Given the description of an element on the screen output the (x, y) to click on. 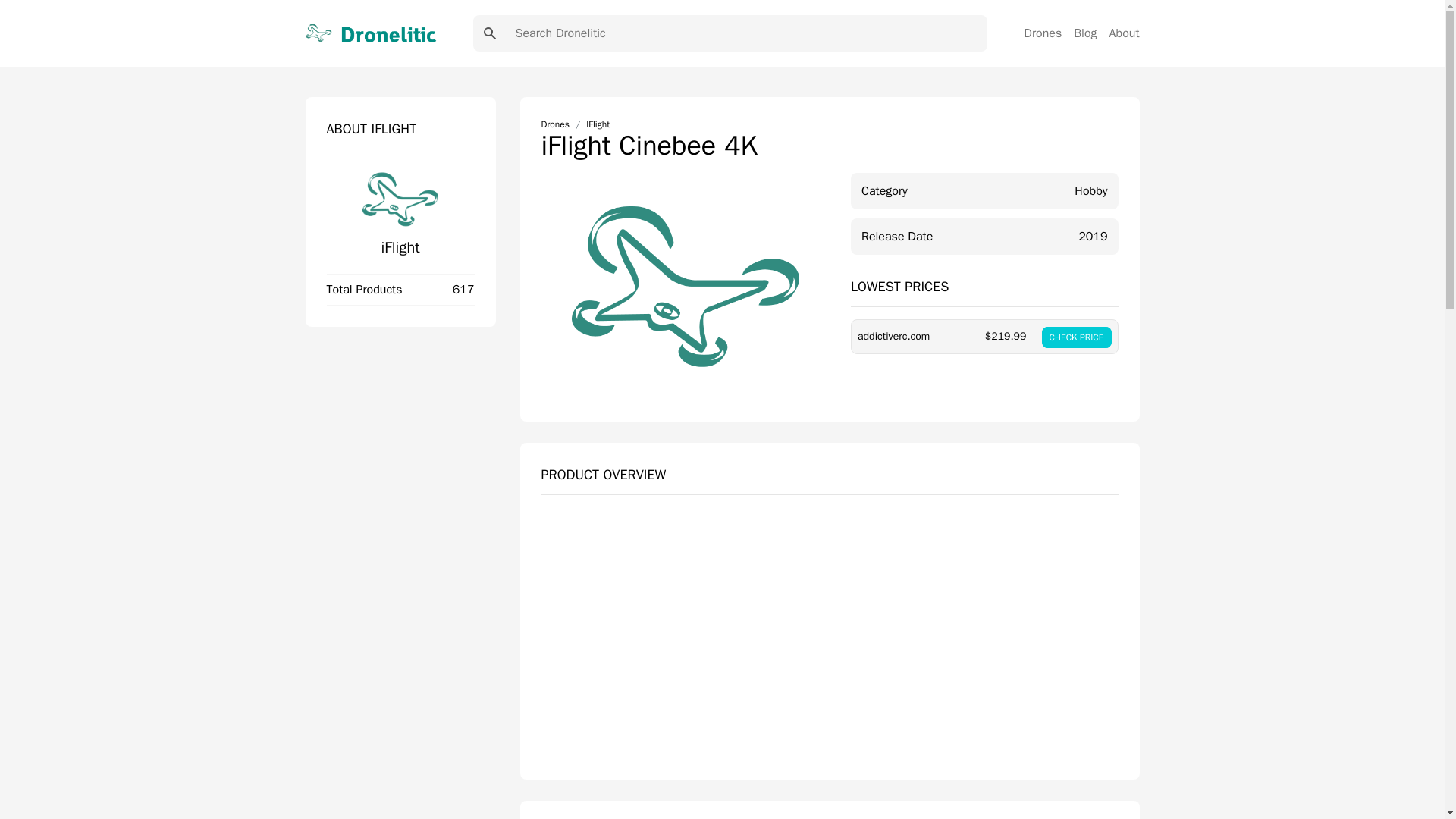
About (1124, 32)
iFlight (399, 247)
IFlight (598, 123)
Drones (555, 123)
Search Submit  (489, 33)
iFlight Cinebee 4K (829, 638)
Drones (1042, 32)
Blog (1085, 33)
